Given the description of an element on the screen output the (x, y) to click on. 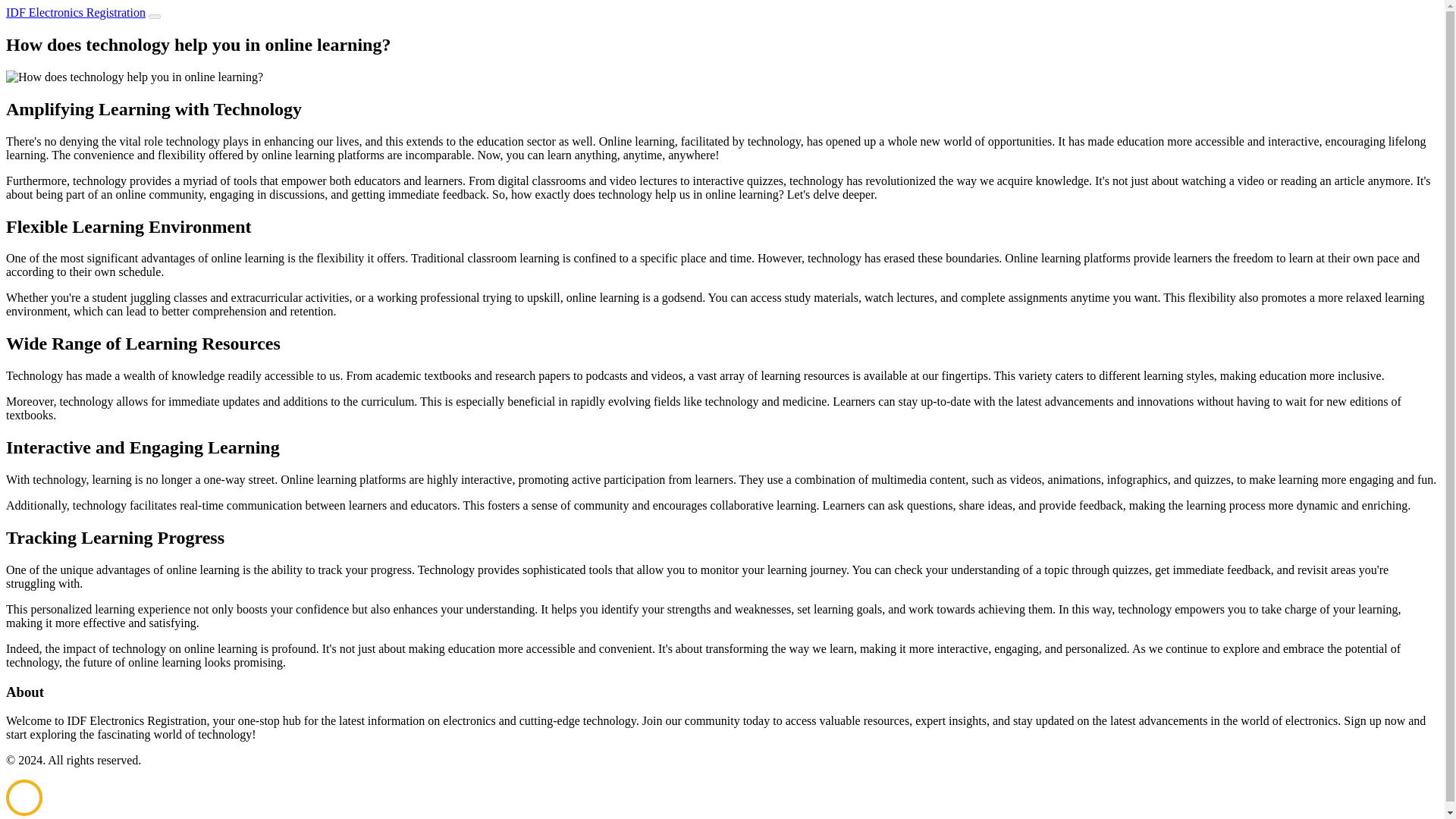
IDF Electronics Registration (75, 11)
